Given the description of an element on the screen output the (x, y) to click on. 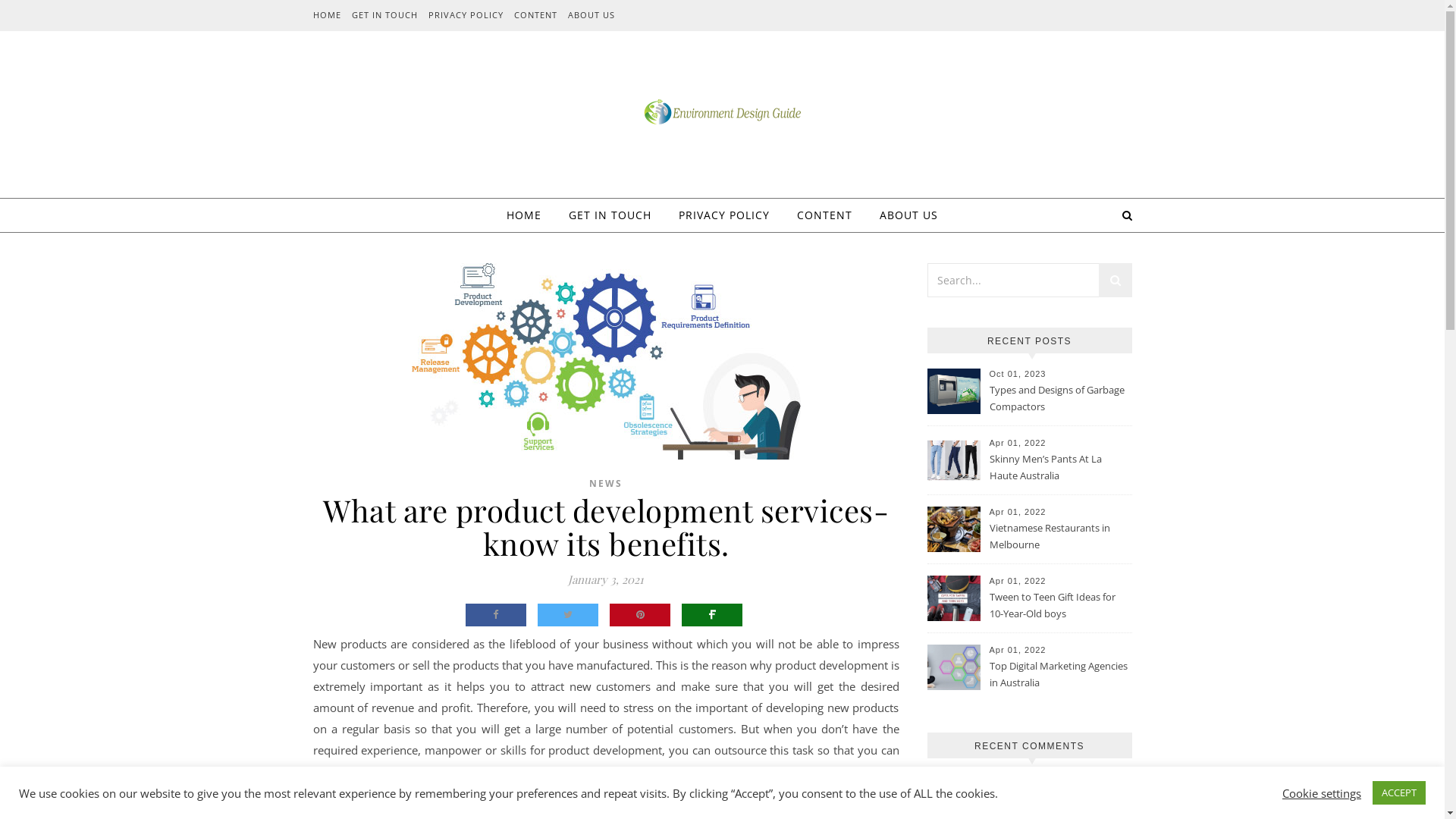
Vietnamese Restaurants in Melbourne Element type: text (1058, 536)
ACCEPT Element type: text (1398, 792)
Top Digital Marketing Agencies in Australia Element type: text (1058, 674)
GET IN TOUCH Element type: text (383, 15)
st Element type: text (1114, 282)
GET IN TOUCH Element type: text (609, 215)
PRIVACY POLICY Element type: text (465, 15)
ABOUT US Element type: text (902, 215)
Tween to Teen Gift Ideas for 10-Year-Old boys Element type: text (1058, 605)
HOME Element type: text (529, 215)
Types and Designs of Garbage Compactors Element type: text (1058, 398)
ABOUT US Element type: text (589, 15)
PRIVACY POLICY Element type: text (723, 215)
Environment Design Guide Element type: hover (721, 111)
HOME Element type: text (328, 15)
Cookie settings Element type: text (1321, 792)
NEWS Element type: text (605, 482)
CONTENT Element type: text (824, 215)
product development services Element type: text (605, 781)
CONTENT Element type: text (534, 15)
